Given the description of an element on the screen output the (x, y) to click on. 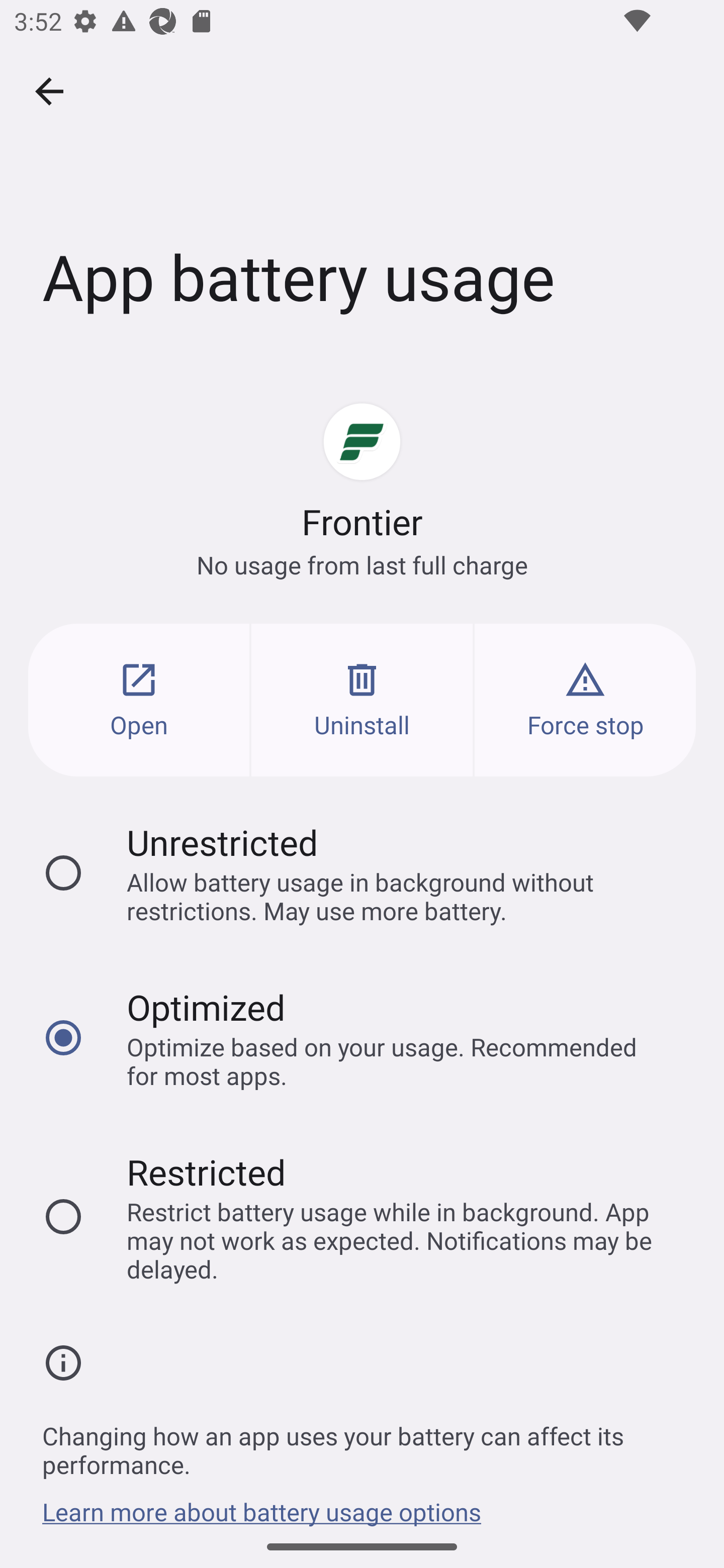
Navigate up (49, 91)
Open (138, 700)
Uninstall (361, 700)
Force stop (584, 700)
